Given the description of an element on the screen output the (x, y) to click on. 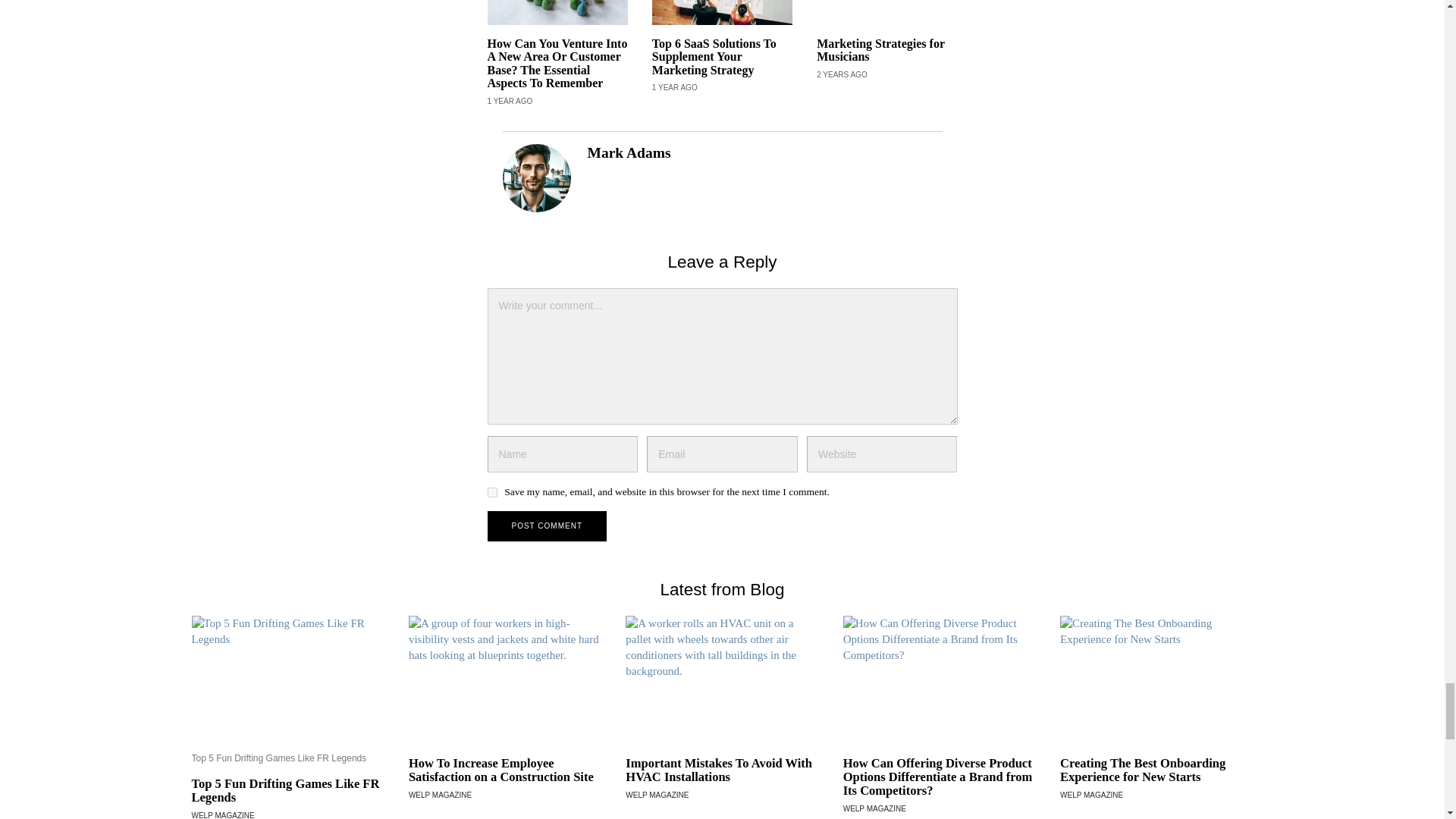
29 Dec, 2022 21:46:36 (841, 74)
Post Comment (545, 526)
yes (491, 492)
15 Jun, 2023 12:26:24 (509, 101)
21 Apr, 2023 14:44:25 (674, 87)
